Given the description of an element on the screen output the (x, y) to click on. 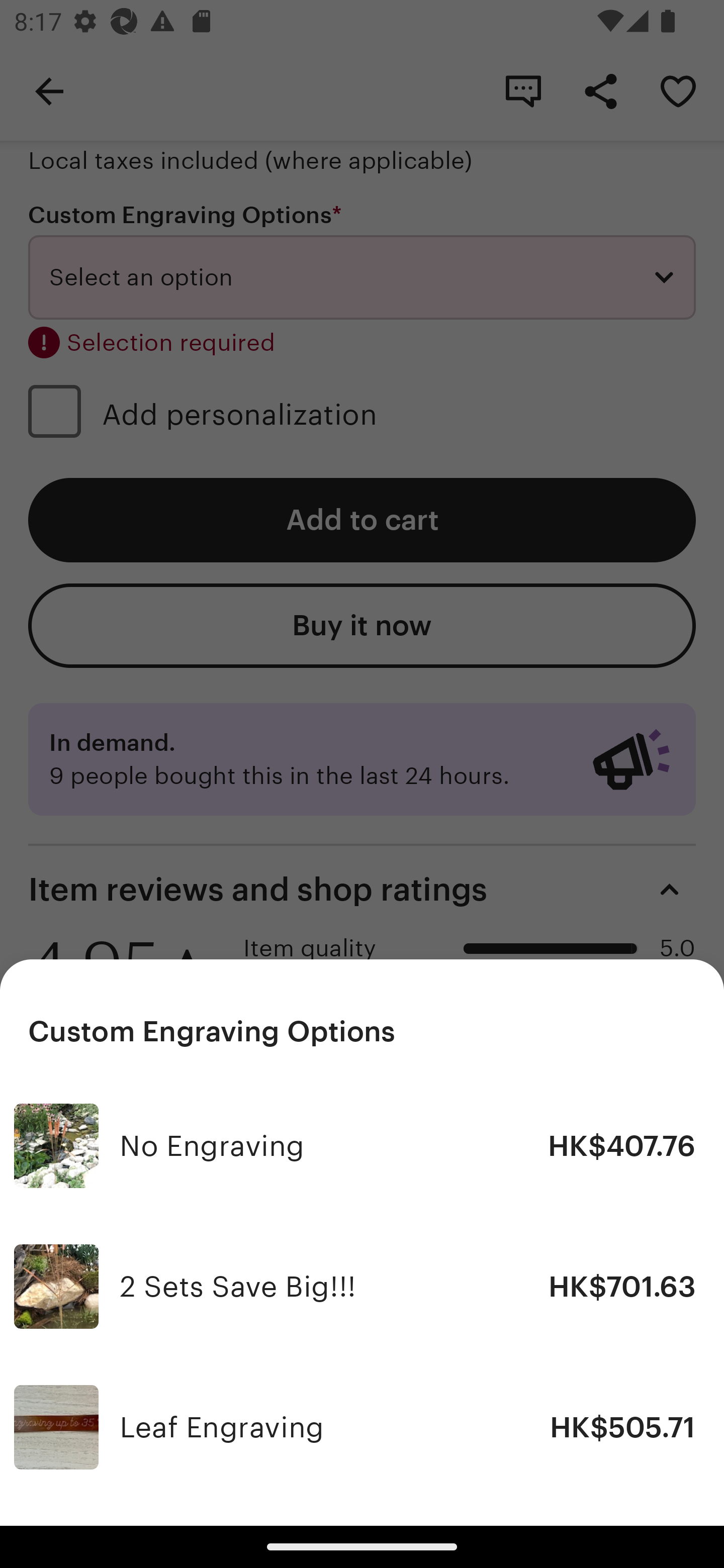
No Engraving HK$407.76 (362, 1145)
2 Sets Save Big!!! HK$701.63 (362, 1286)
Leaf Engraving HK$505.71 (362, 1426)
